Given the description of an element on the screen output the (x, y) to click on. 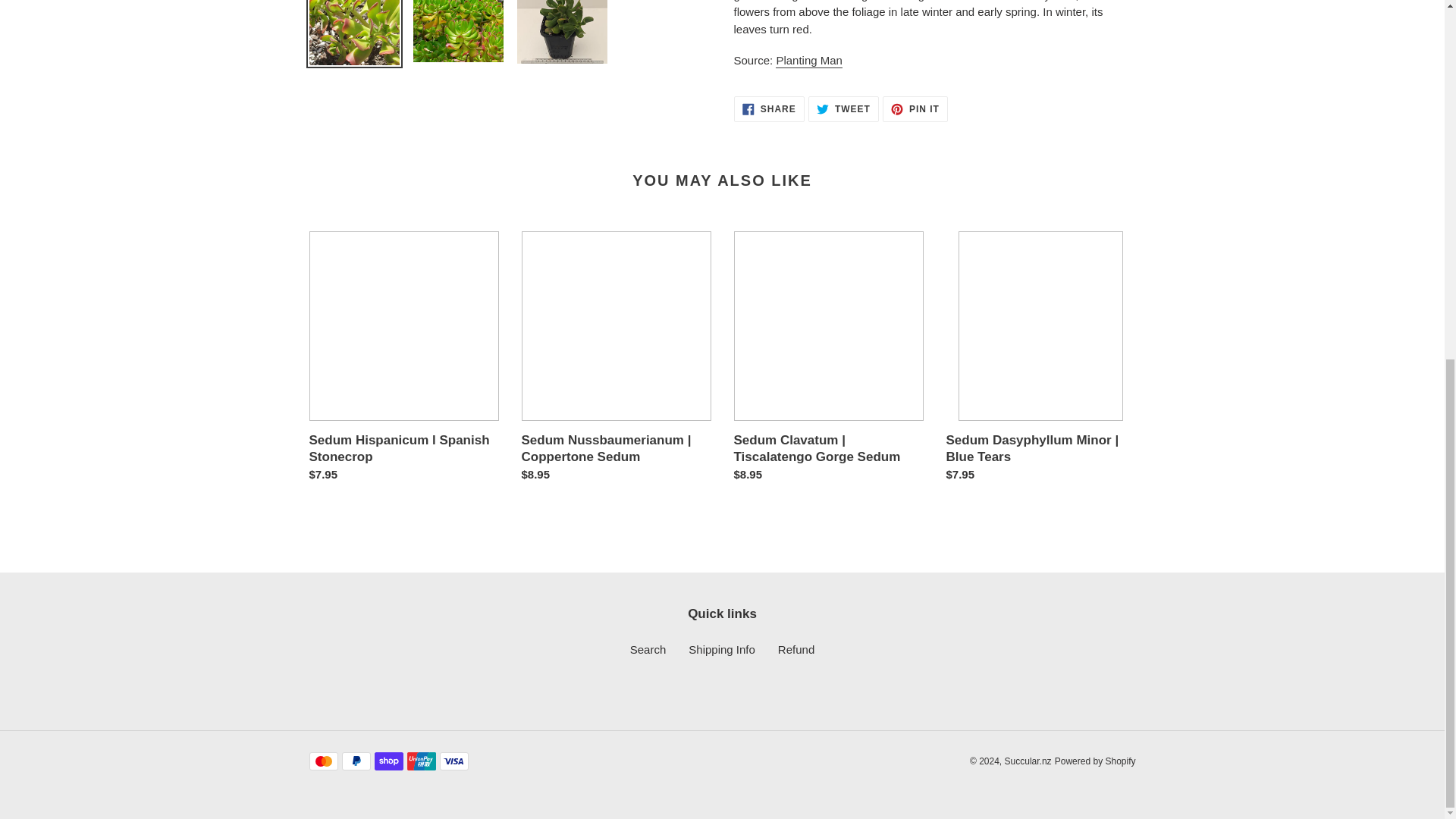
Planting Man (809, 60)
Search (843, 109)
